Given the description of an element on the screen output the (x, y) to click on. 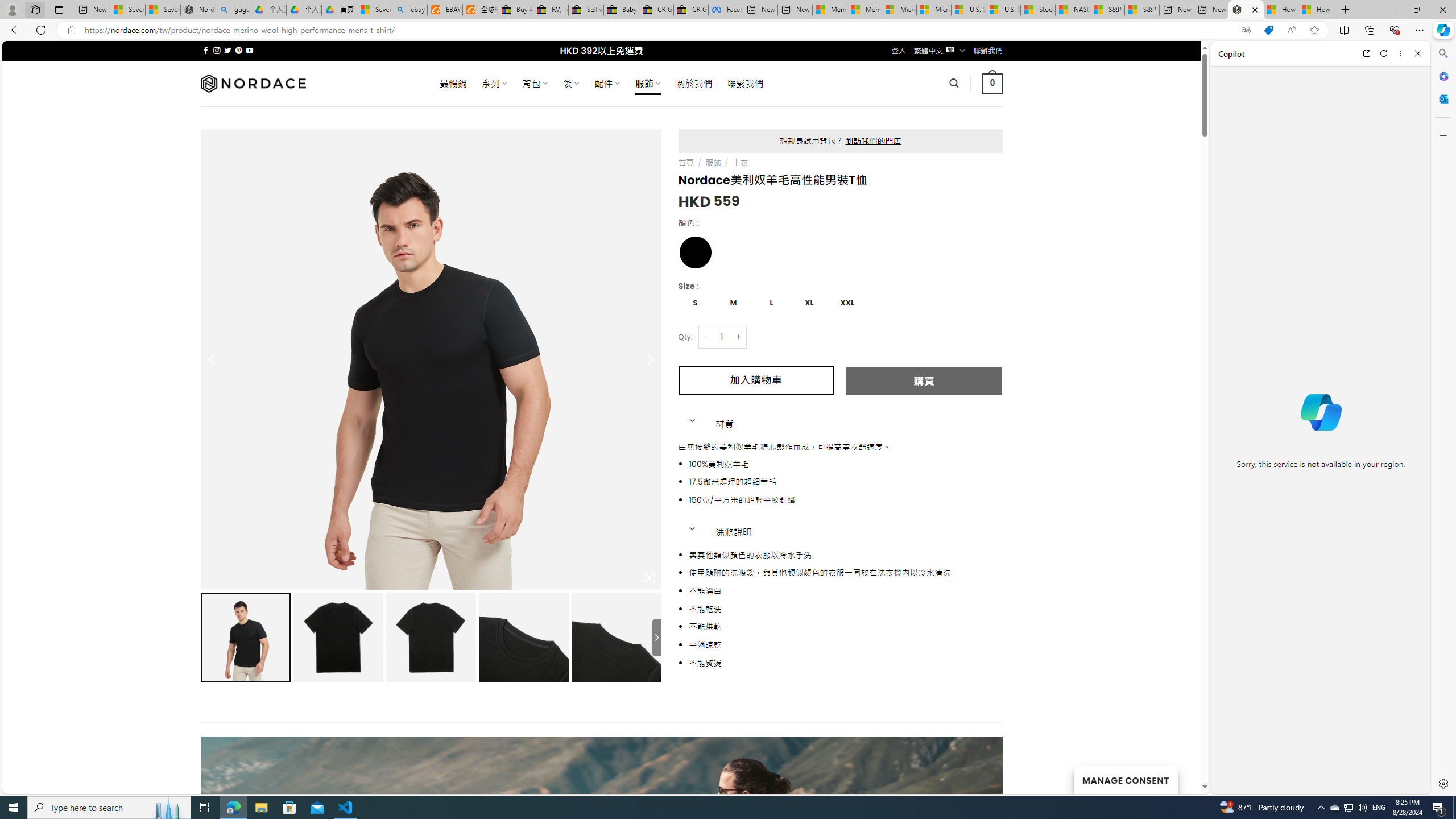
Class: iconic-woothumbs-fullscreen (649, 577)
RV, Trailer & Camper Steps & Ladders for sale | eBay (550, 9)
  0   (992, 83)
